Given the description of an element on the screen output the (x, y) to click on. 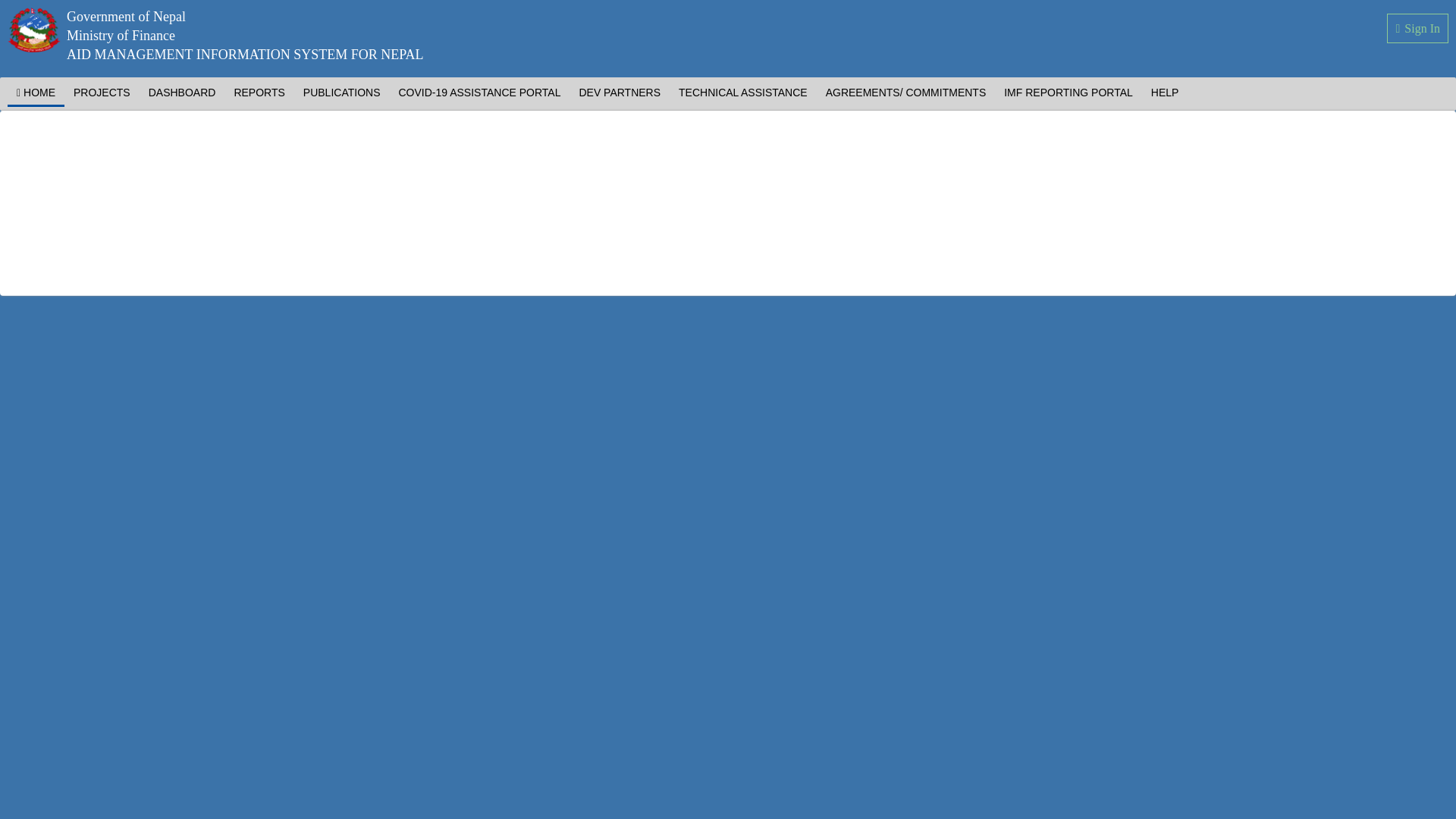
PROJECTS (101, 92)
DEV PARTNERS (619, 92)
Go to AID MANAGEMENT INFORMATION SYSTEM FOR NEPAL (244, 54)
Go to AID MANAGEMENT INFORMATION SYSTEM FOR NEPAL (215, 36)
HELP (1164, 92)
Sign In (1417, 28)
PUBLICATIONS (342, 92)
REPORTS (259, 92)
HOME (35, 94)
